Given the description of an element on the screen output the (x, y) to click on. 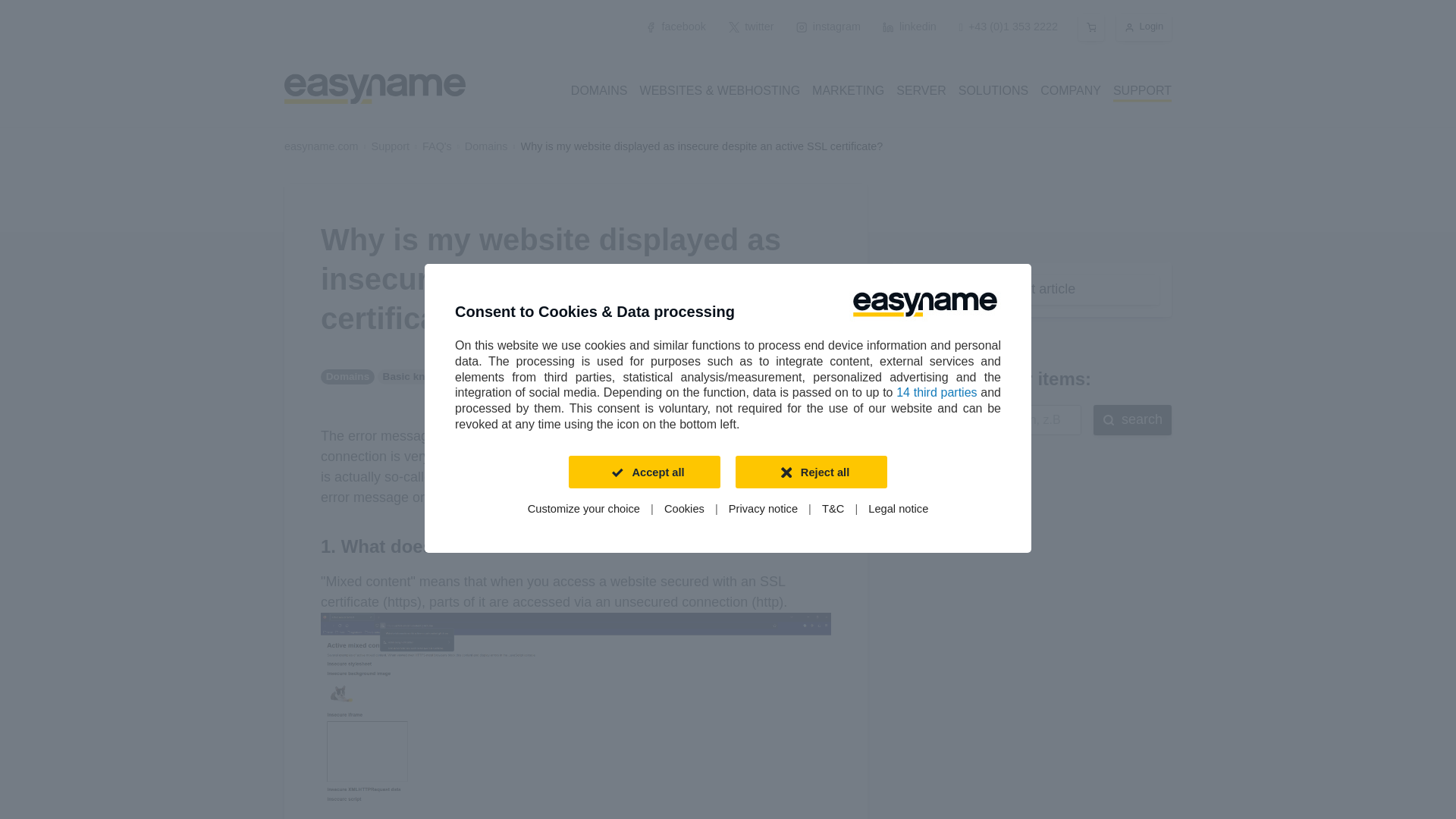
Show shopping cart (1091, 26)
instagram (827, 26)
14 third parties (936, 391)
Legal notice (898, 509)
twitter (751, 26)
Privacy notice (762, 509)
Support (390, 146)
easyname.com (320, 146)
Cookies (683, 509)
Customize your choice (583, 509)
Reject all (810, 471)
FAQ's (436, 146)
Login (1144, 26)
facebook (675, 26)
